Given the description of an element on the screen output the (x, y) to click on. 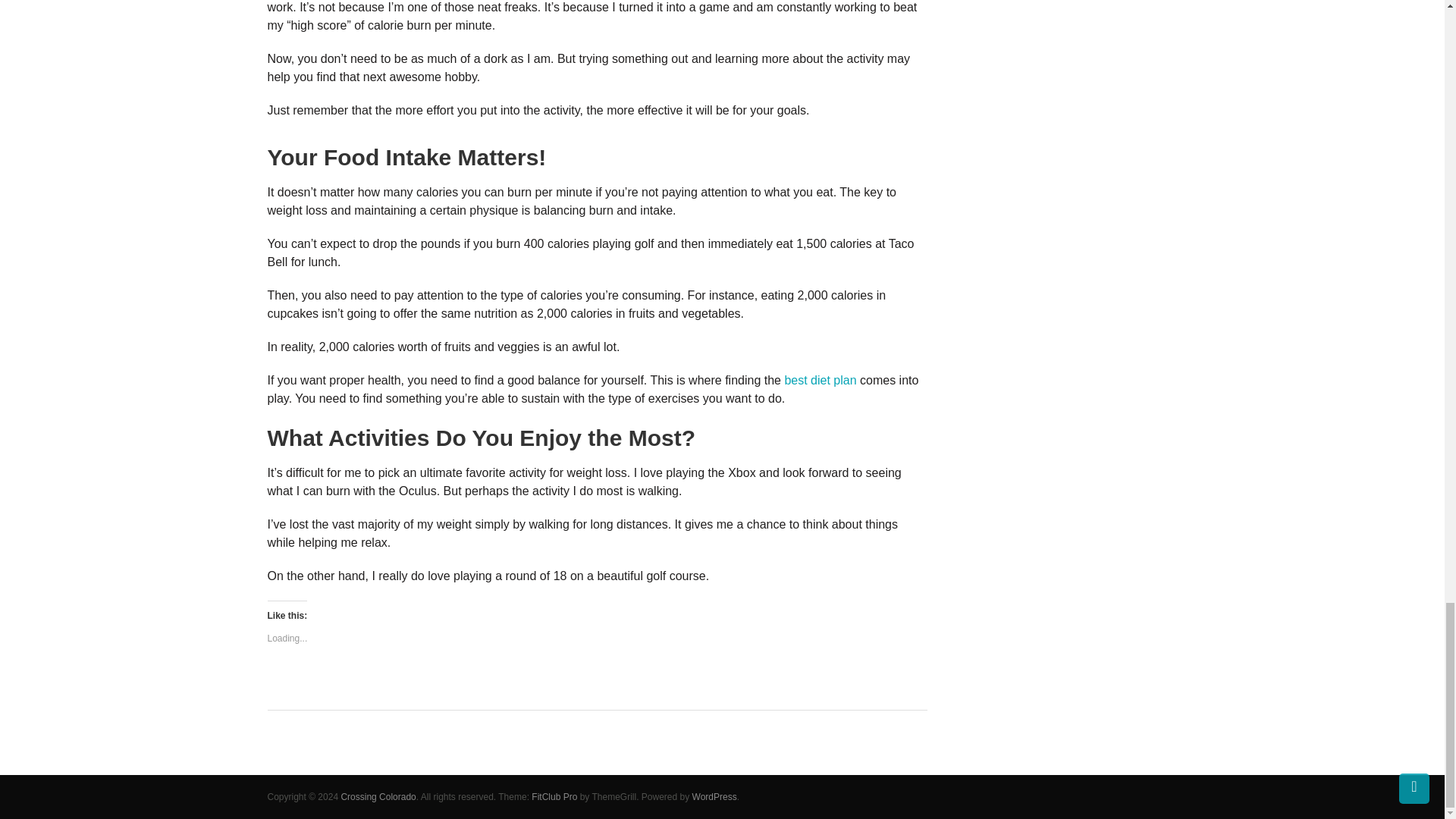
FitClub Pro (553, 796)
best diet plan (820, 379)
Crossing Colorado (377, 796)
